Given the description of an element on the screen output the (x, y) to click on. 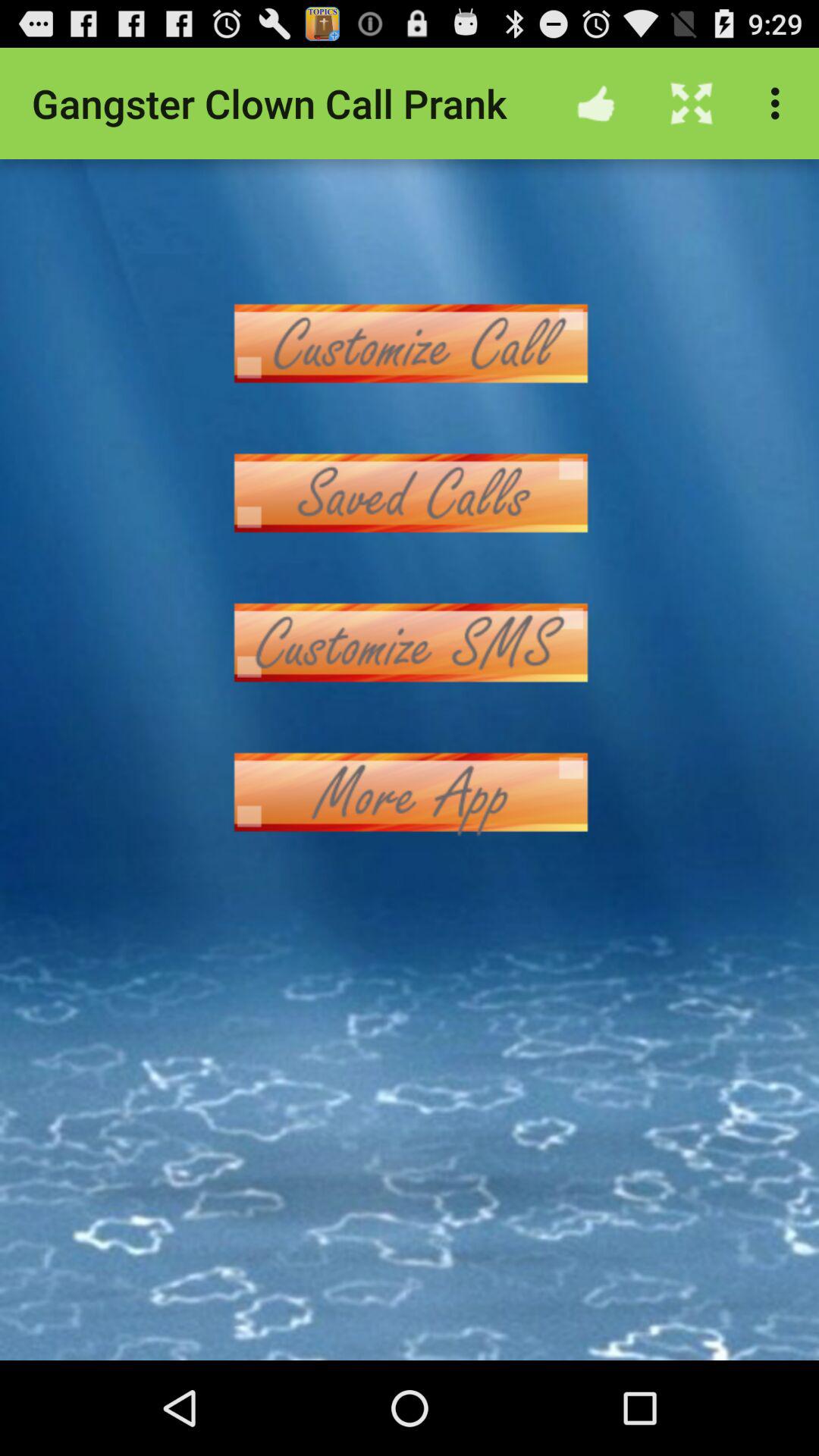
open more app (409, 792)
